Given the description of an element on the screen output the (x, y) to click on. 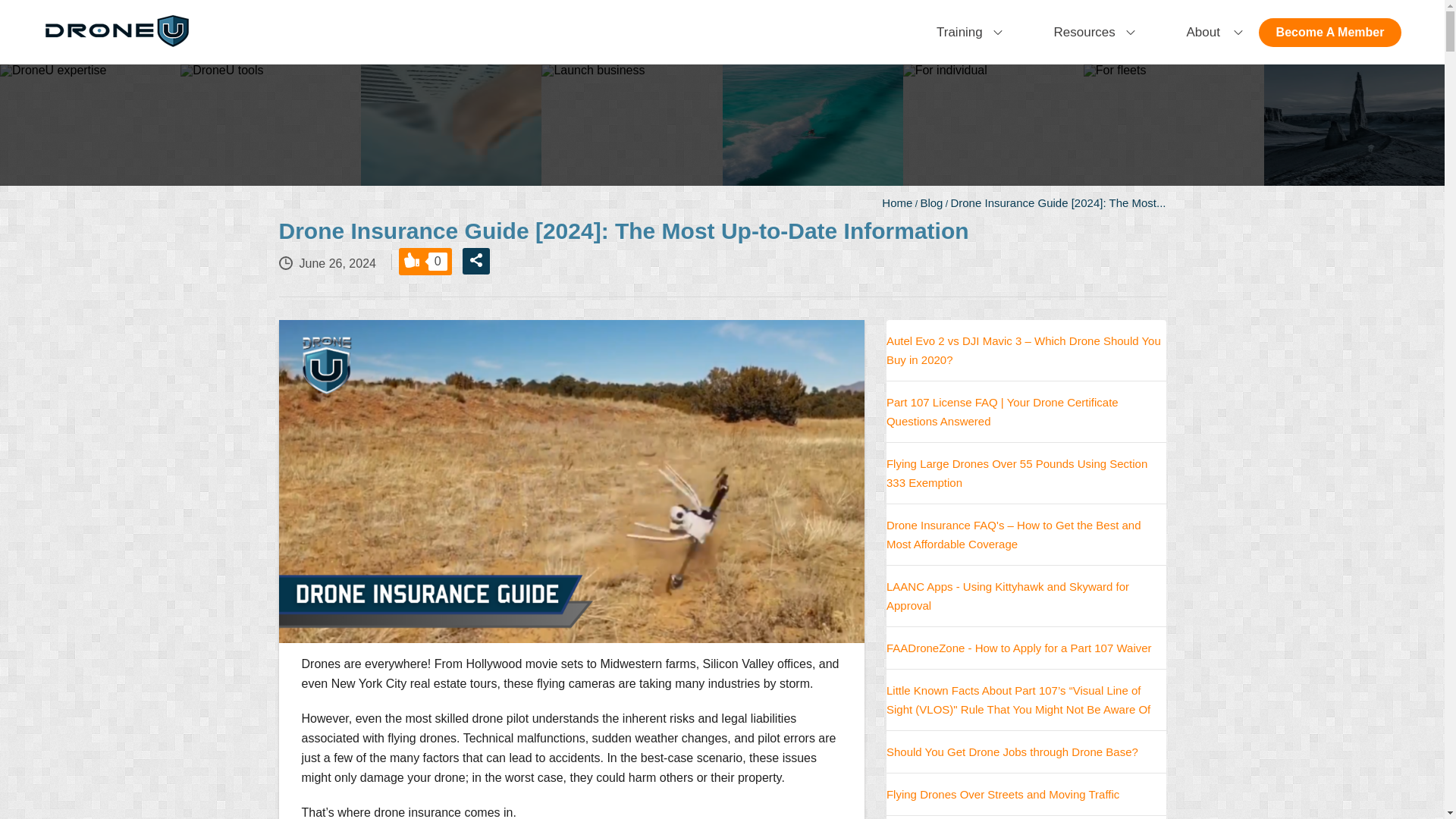
Home (897, 202)
Resources (1085, 31)
About (1206, 31)
Training (961, 31)
Become A Member (1330, 32)
Blog (931, 202)
